Given the description of an element on the screen output the (x, y) to click on. 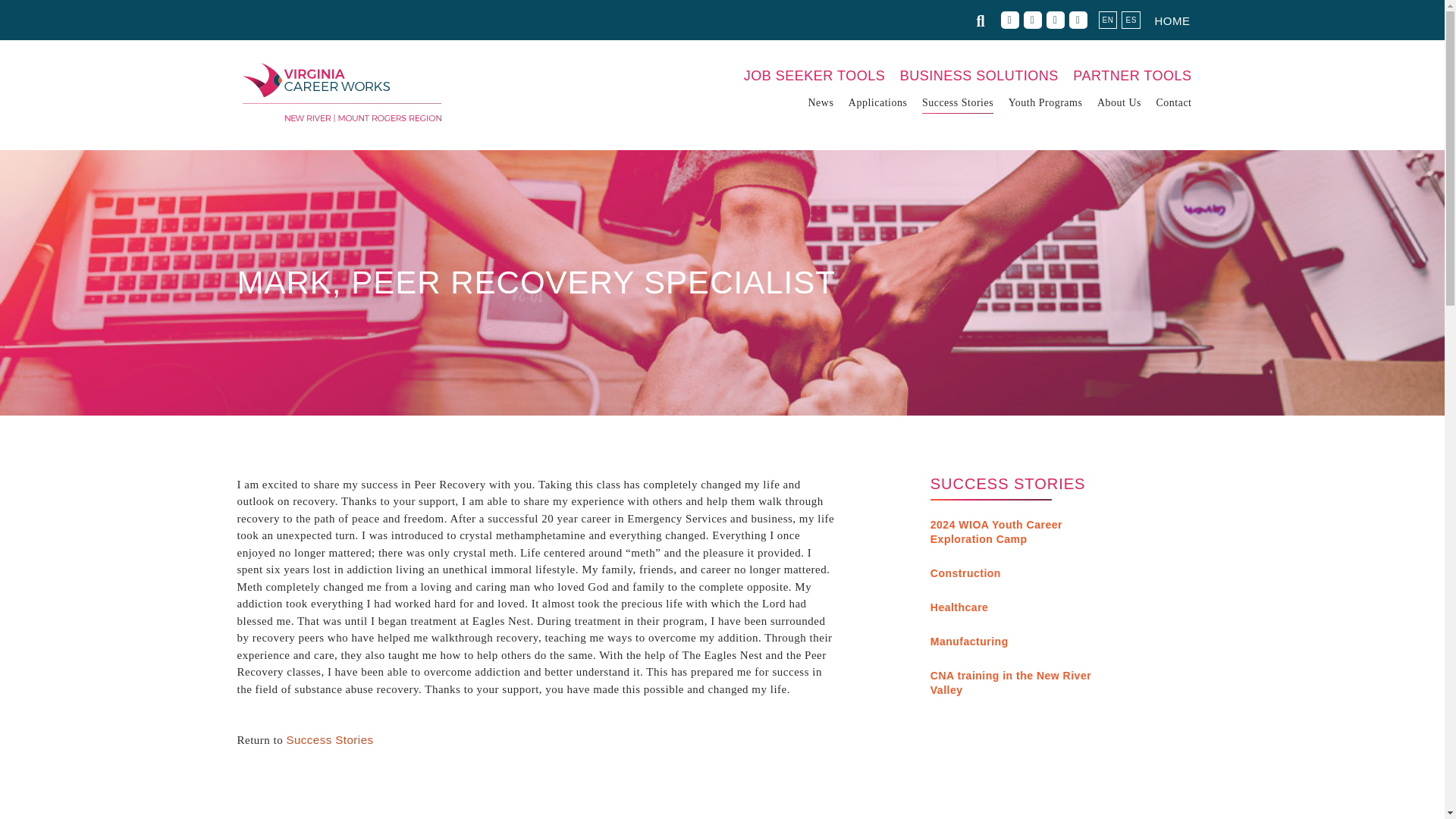
News (820, 102)
home (1172, 21)
Permanent link to 2024 WIOA Youth Career Exploration Camp (996, 531)
JOB SEEKER TOOLS (814, 76)
Success Stories (330, 739)
SEARCH (984, 22)
HOME (1172, 21)
Success Stories (956, 102)
LINKEDIN (1055, 19)
BUSINESS SOLUTIONS (978, 76)
Applications (877, 102)
PODCAST (1077, 19)
Permanent link to Healthcare (959, 607)
FACEBOOK (1010, 19)
Spanish (1130, 19)
